Given the description of an element on the screen output the (x, y) to click on. 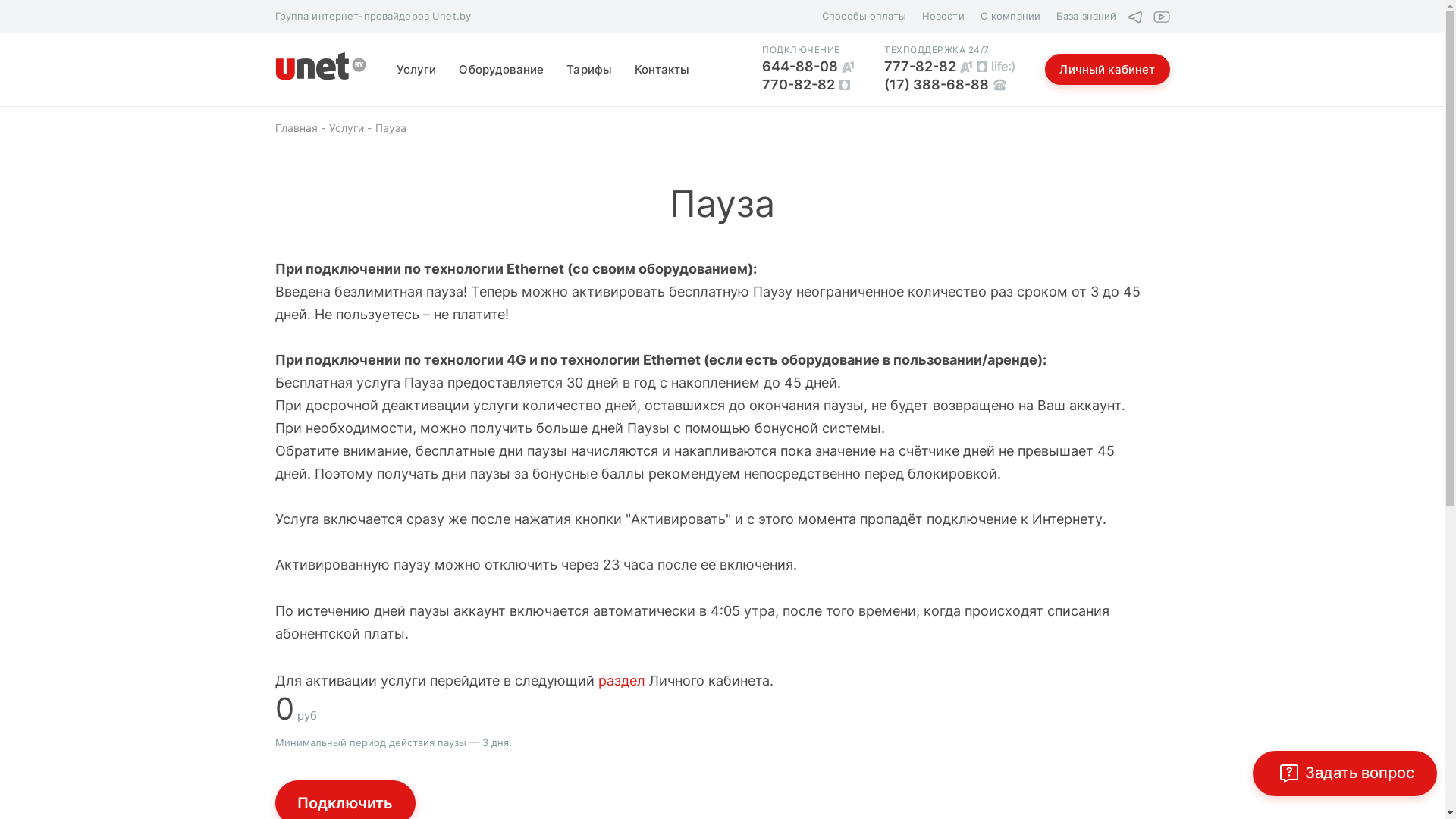
770-82-82 Element type: text (807, 84)
644-88-08 Element type: text (807, 66)
(17) 388-68-88 Element type: text (949, 84)
777-82-82 Element type: text (949, 66)
